Given the description of an element on the screen output the (x, y) to click on. 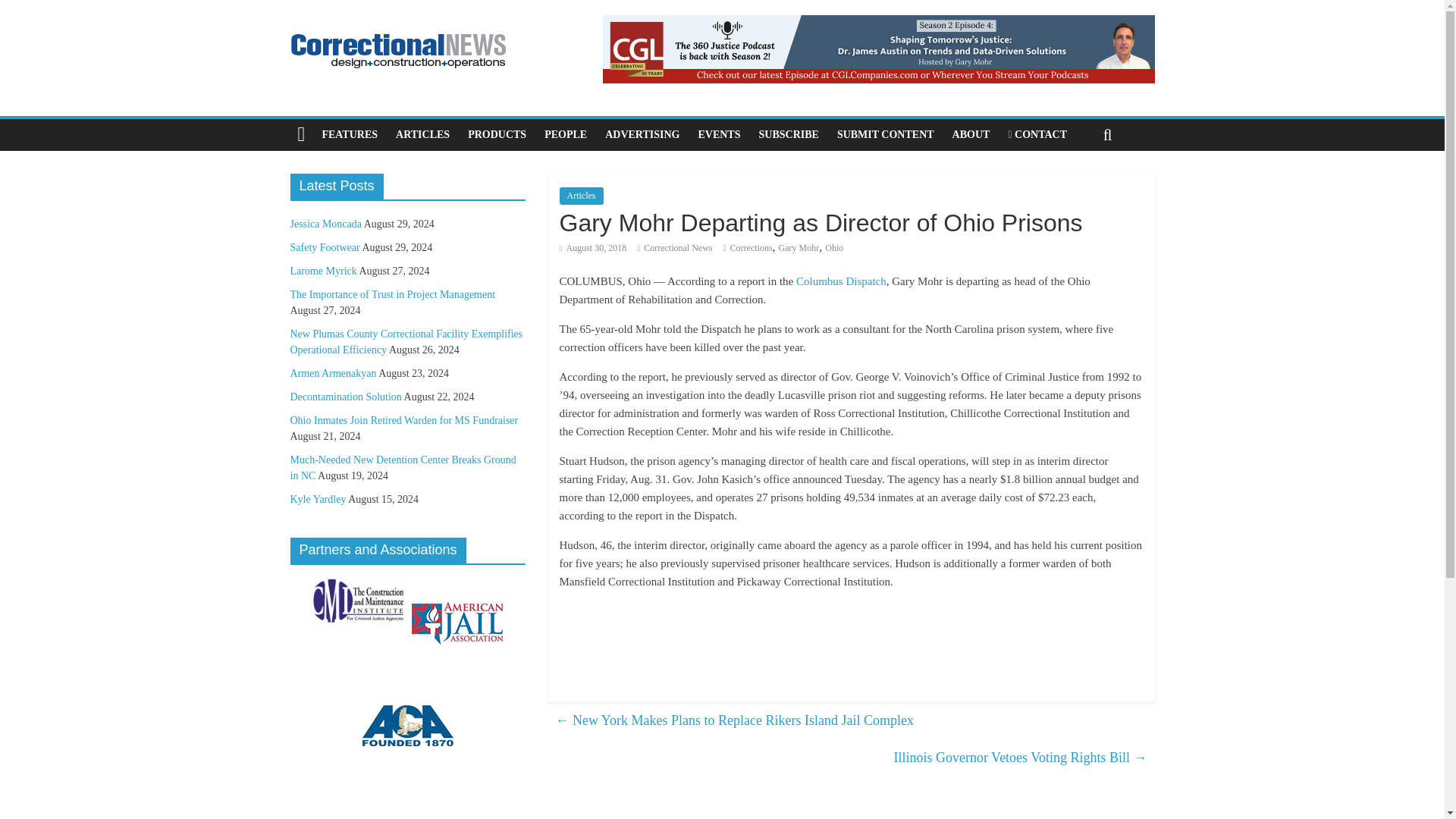
Decontamination Solution (345, 396)
Gary Mohr (798, 247)
SUBSCRIBE (788, 134)
PRODUCTS (496, 134)
Larome Myrick (322, 270)
PEOPLE (565, 134)
Ohio (834, 247)
2:08 pm (593, 247)
SUBMIT CONTENT (885, 134)
August 30, 2018 (593, 247)
